Given the description of an element on the screen output the (x, y) to click on. 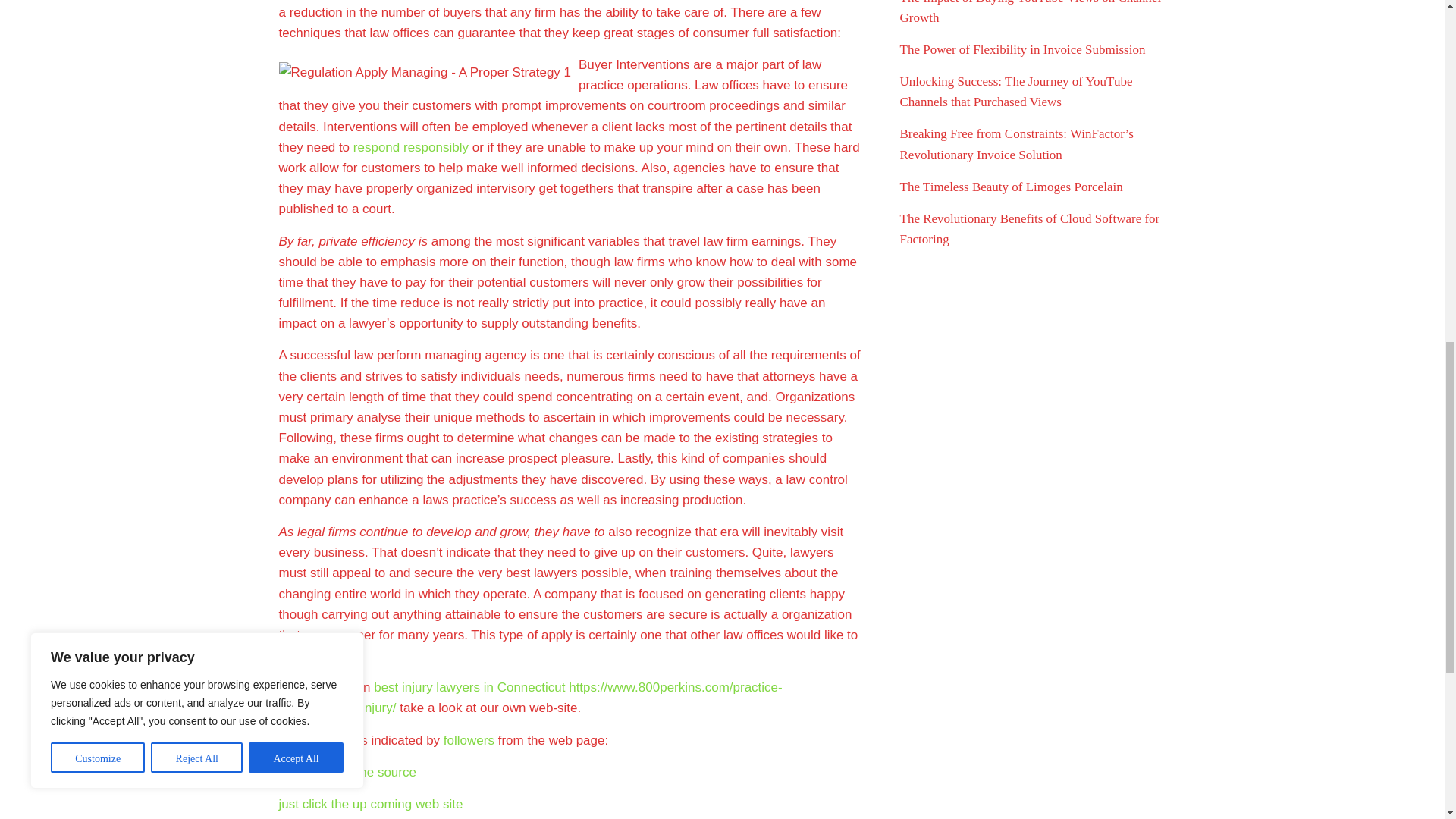
just click the up coming web site (371, 803)
respond responsibly (410, 147)
The Impact of Buying YouTube Views on Channel Growth (1029, 12)
Straight from the source (347, 771)
followers (469, 740)
